Given the description of an element on the screen output the (x, y) to click on. 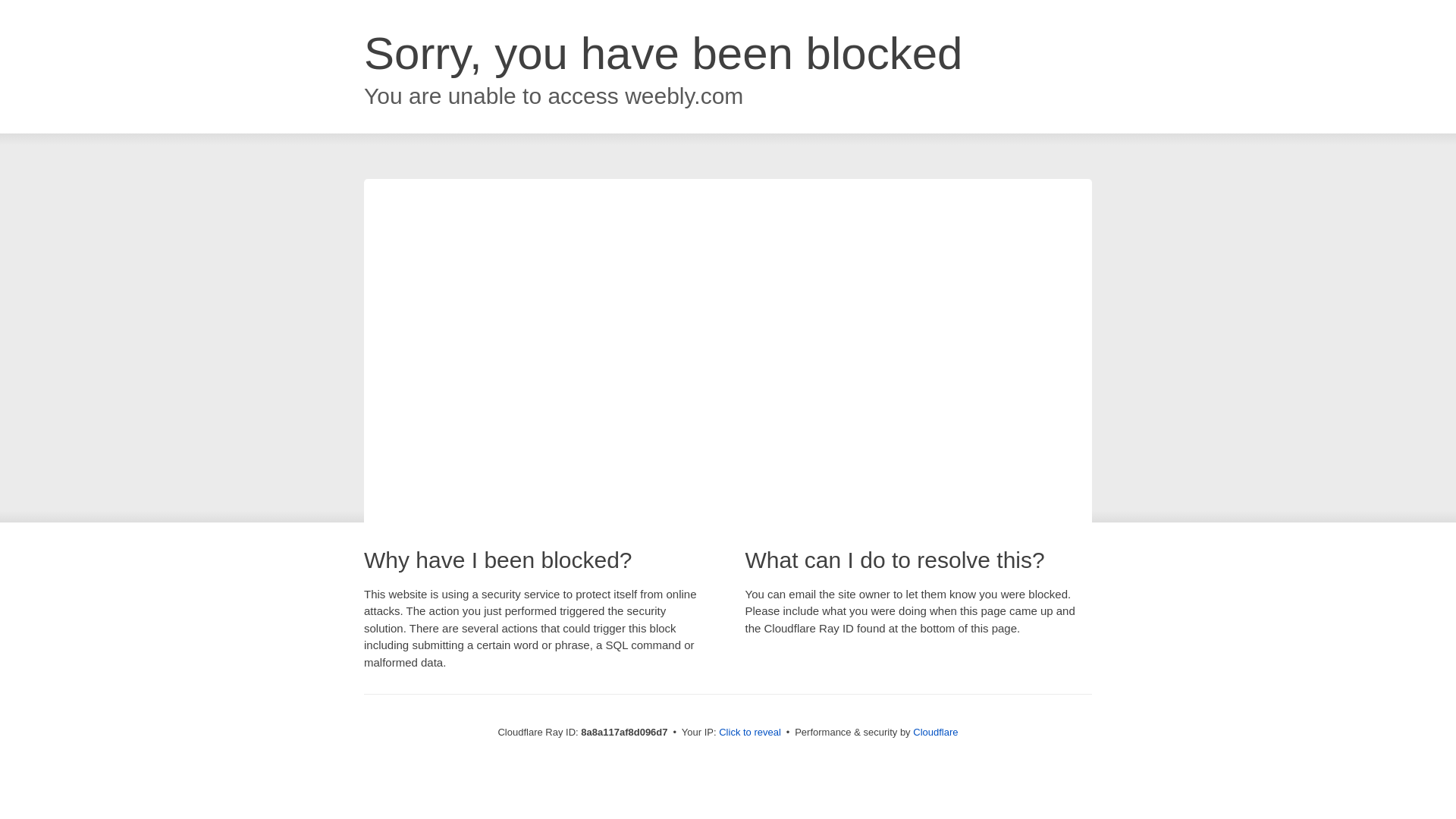
Click to reveal (749, 732)
Cloudflare (935, 731)
